Given the description of an element on the screen output the (x, y) to click on. 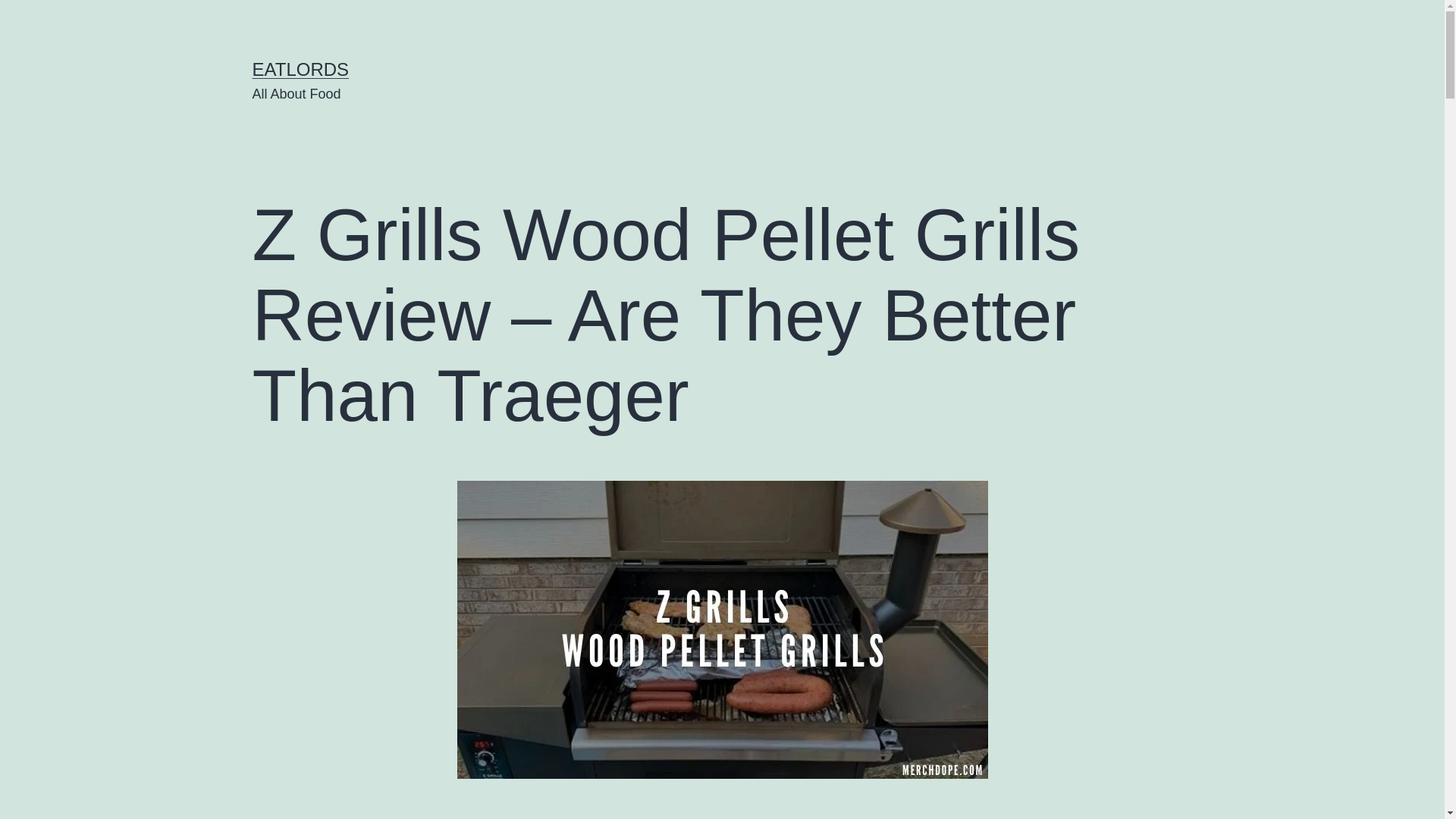
EATLORDS (300, 68)
